Given the description of an element on the screen output the (x, y) to click on. 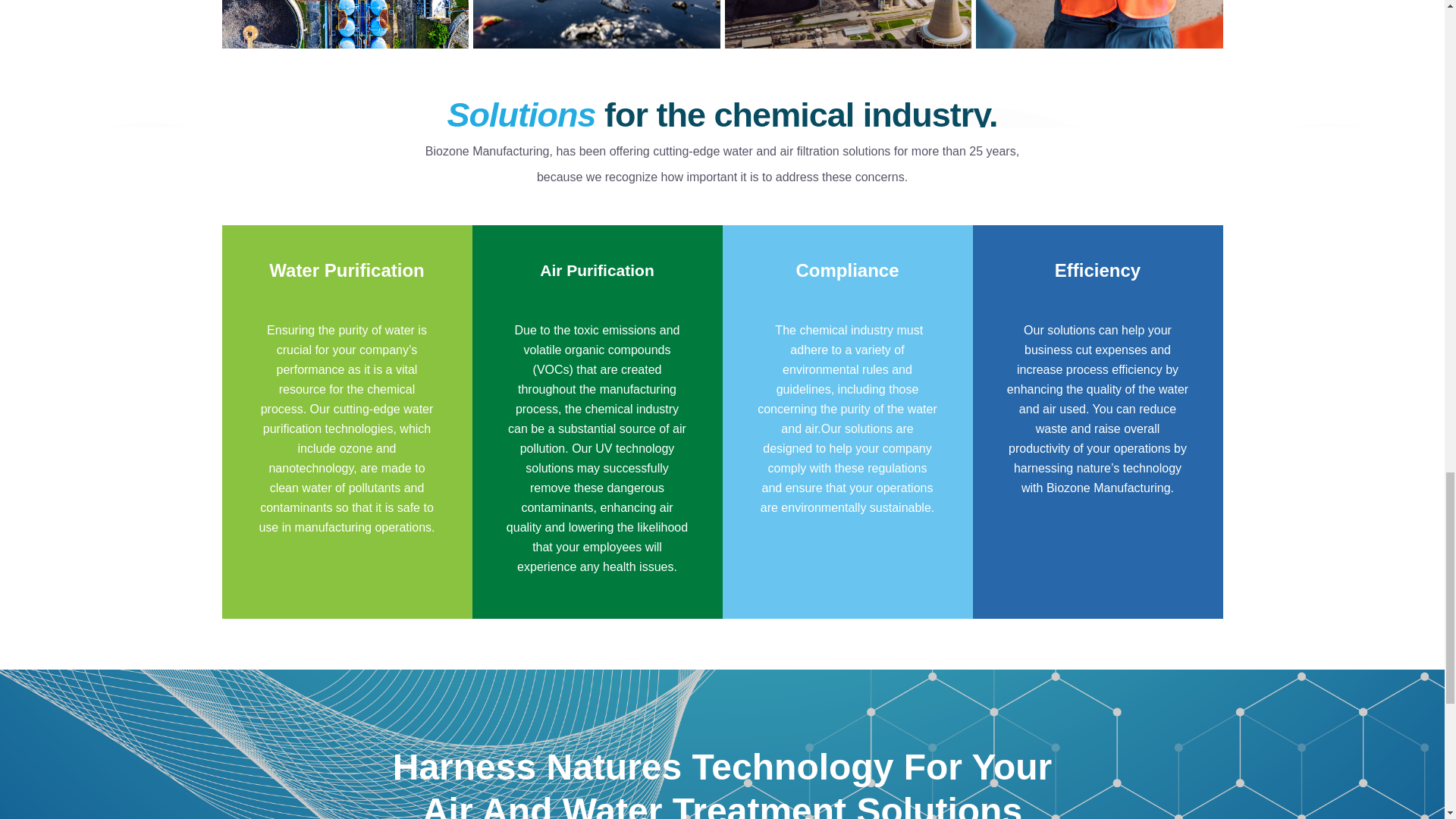
Water Purification (347, 278)
